Given the description of an element on the screen output the (x, y) to click on. 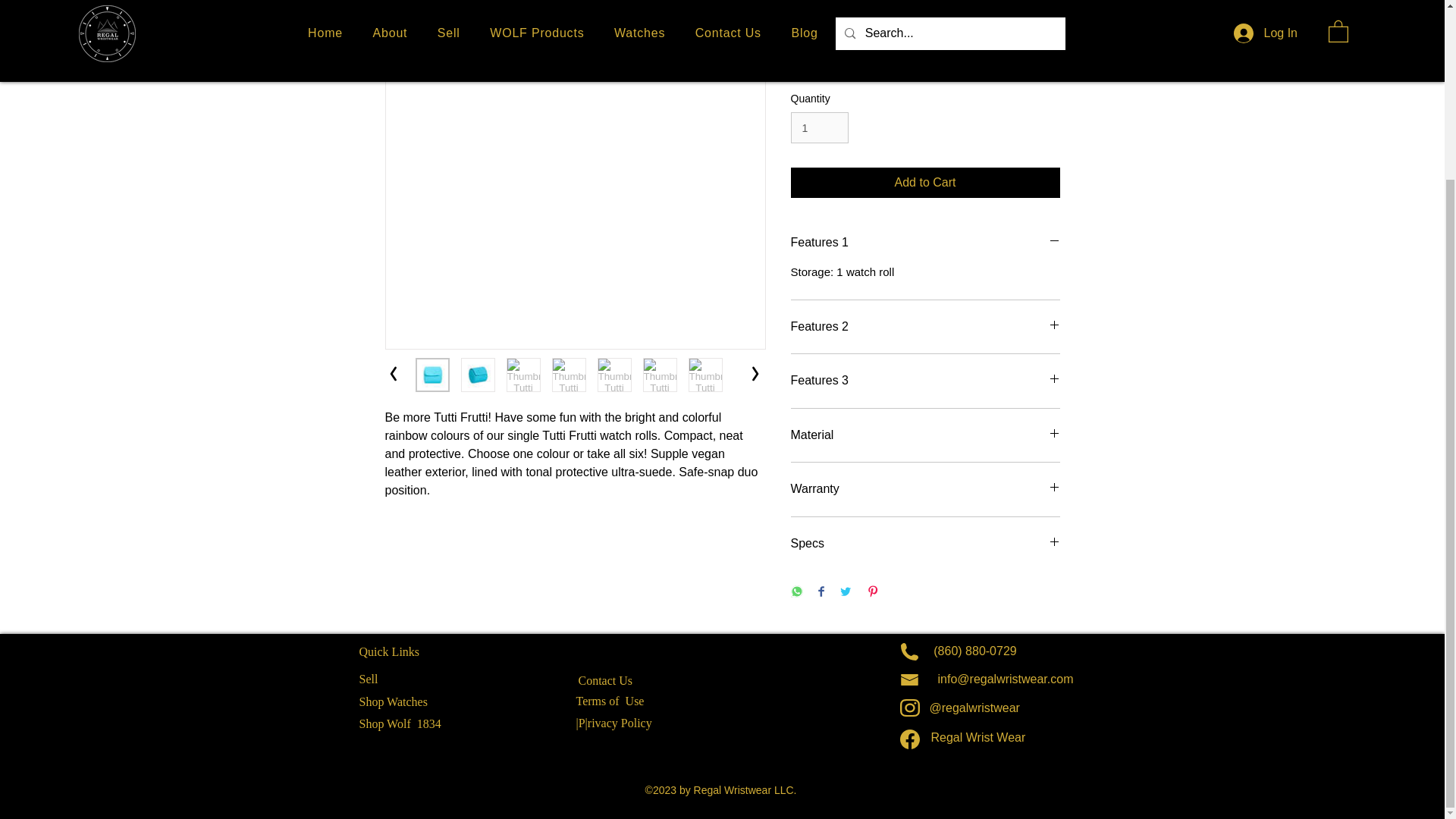
Material (924, 434)
Features 2 (924, 326)
Features 1 (924, 242)
Warranty (924, 488)
Specs (924, 543)
Features 3 (924, 380)
1 (818, 127)
Add to Cart (924, 182)
